Given the description of an element on the screen output the (x, y) to click on. 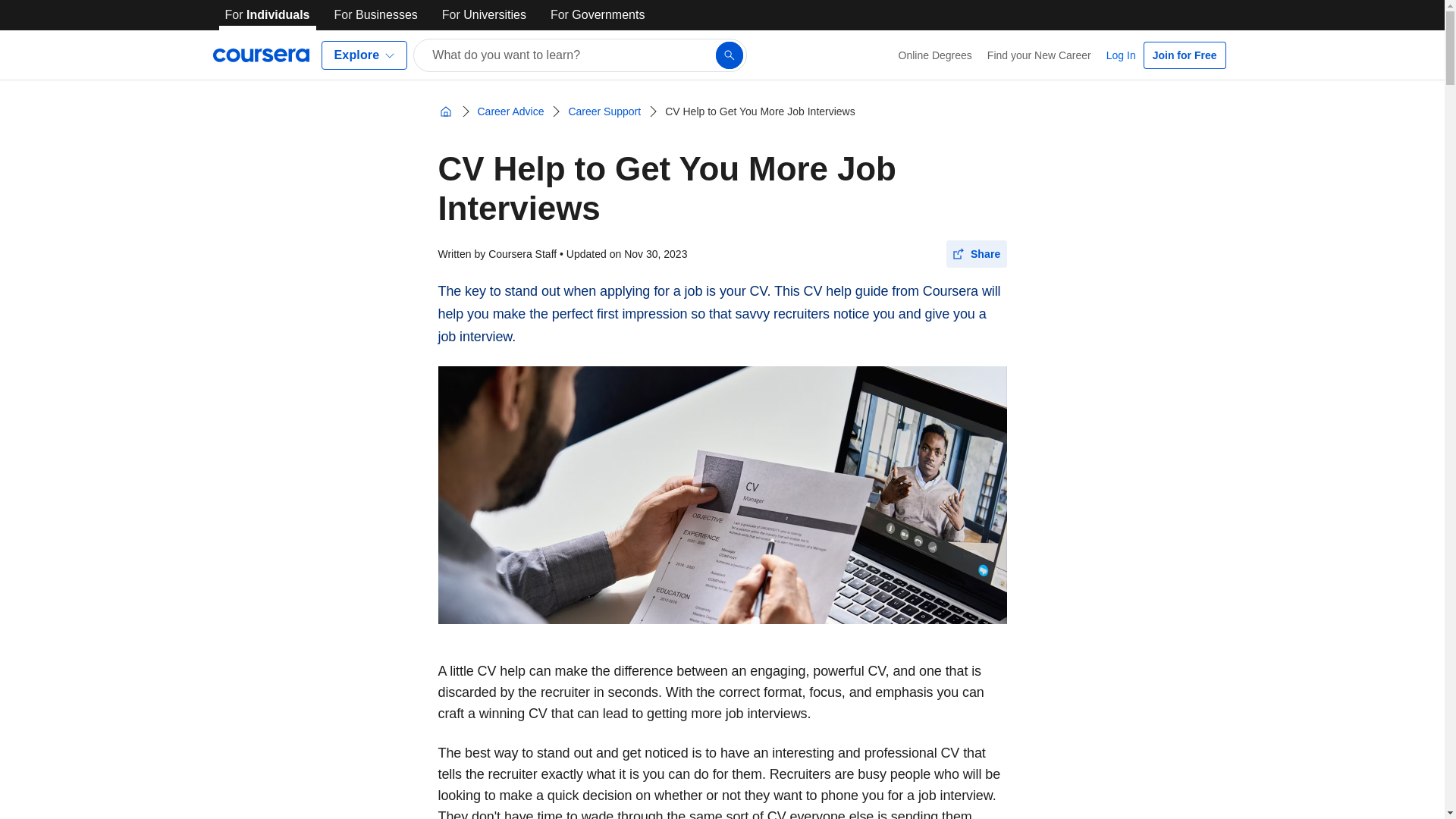
Career Advice (510, 111)
Online Degrees (935, 54)
For Universities (483, 15)
Explore (364, 54)
Share (976, 253)
CV Help to Get You More Job Interviews (760, 111)
Join for Free (1183, 53)
Career Support (604, 111)
Find your New Career (1039, 54)
For Individuals (266, 15)
